Given the description of an element on the screen output the (x, y) to click on. 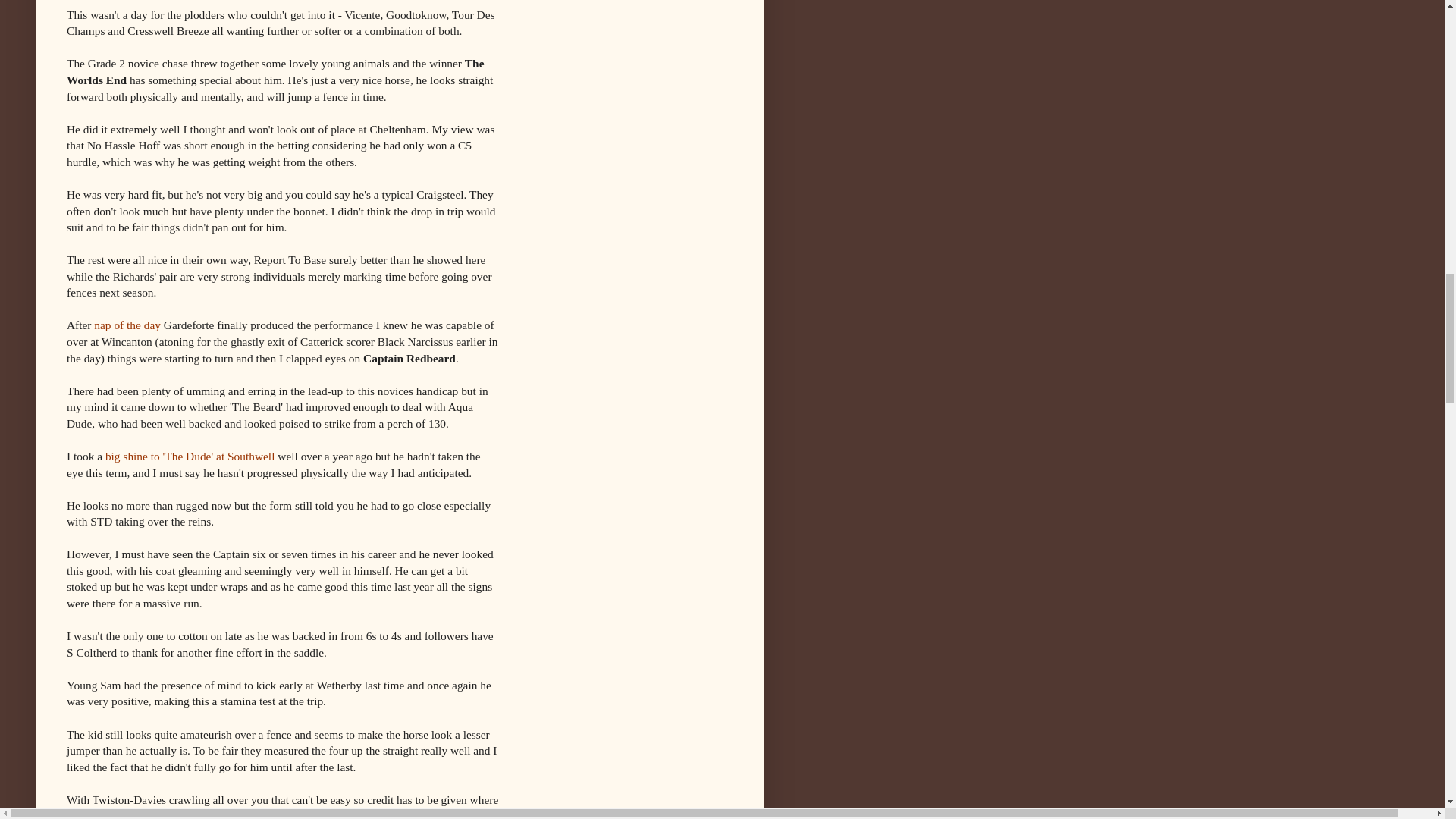
big shine to 'The Dude' at Southwell (189, 455)
nap of the day (127, 324)
